Given the description of an element on the screen output the (x, y) to click on. 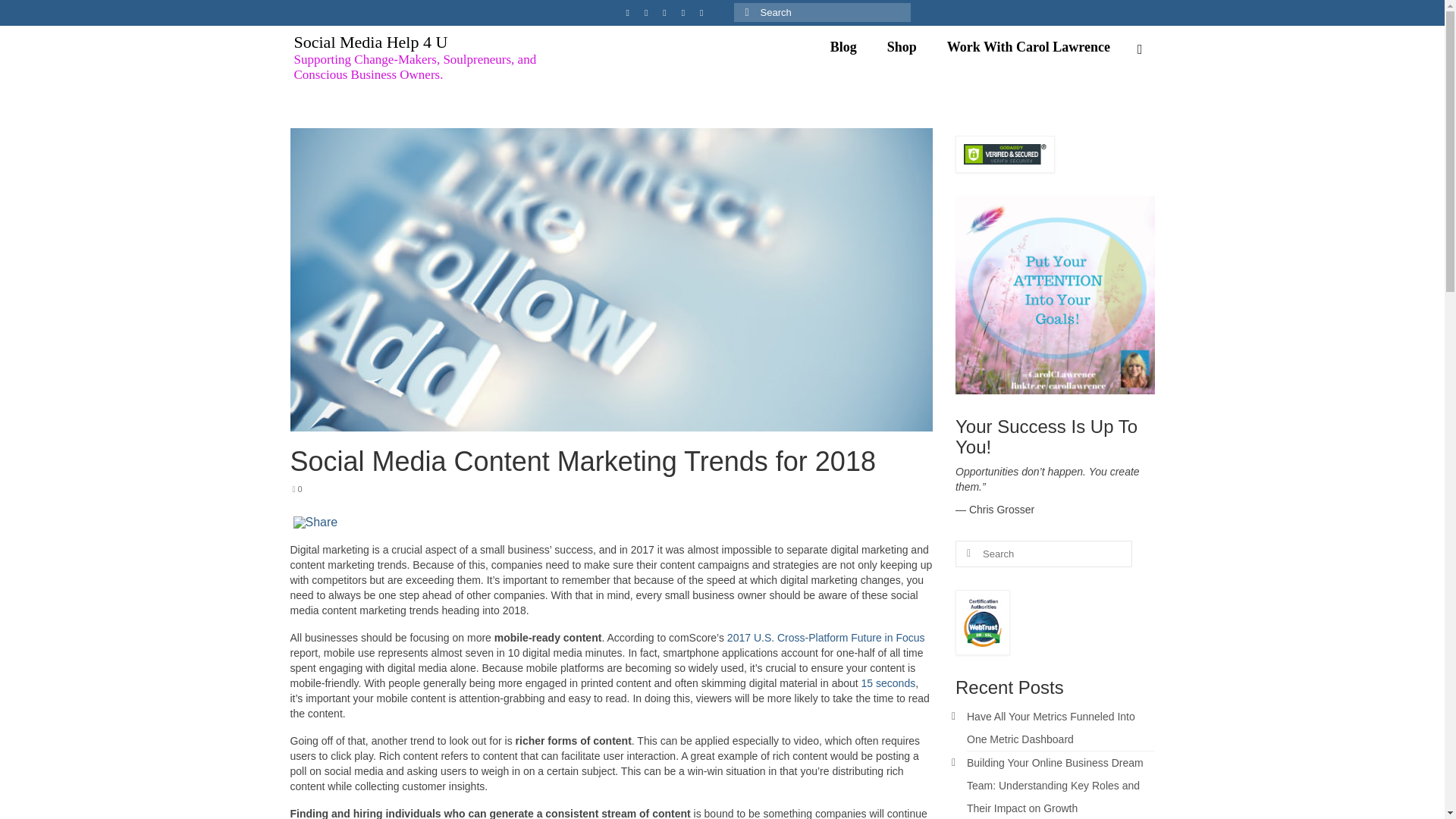
2017 U.S. Cross-Platform Future in Focus (825, 637)
Shop (901, 46)
Search (1139, 49)
Social Media Help 4 U (371, 41)
0 (297, 488)
Work With Carol Lawrence (1028, 46)
Social Media Help 4 U (371, 41)
Blog (843, 46)
15 seconds (888, 683)
